Given the description of an element on the screen output the (x, y) to click on. 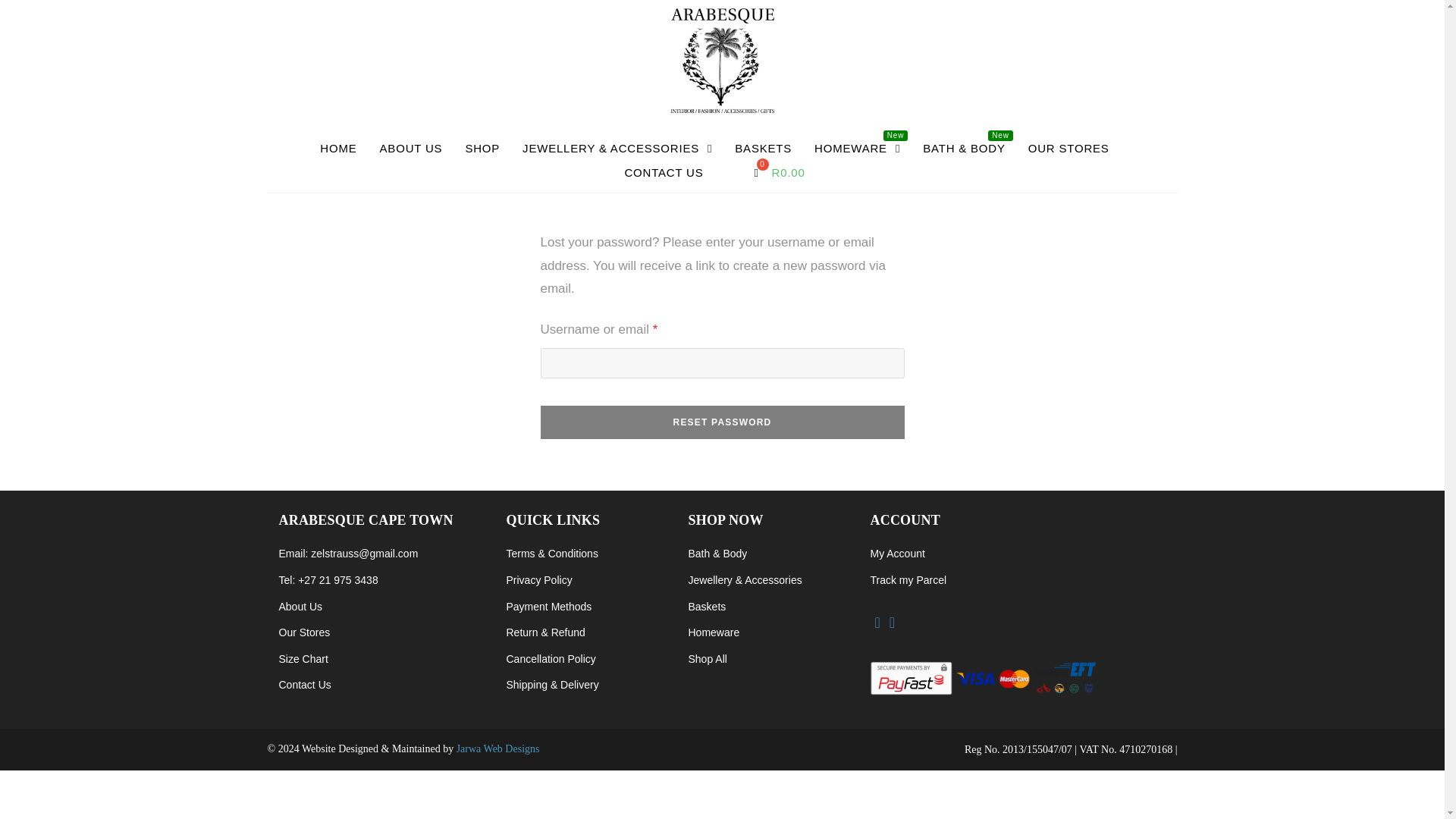
HOMEWARE (857, 148)
CONTACT US (663, 172)
HOME (338, 148)
ABOUT US (411, 148)
BASKETS (763, 148)
SHOP (481, 148)
OUR STORES (1068, 148)
R0.00 (777, 172)
